Given the description of an element on the screen output the (x, y) to click on. 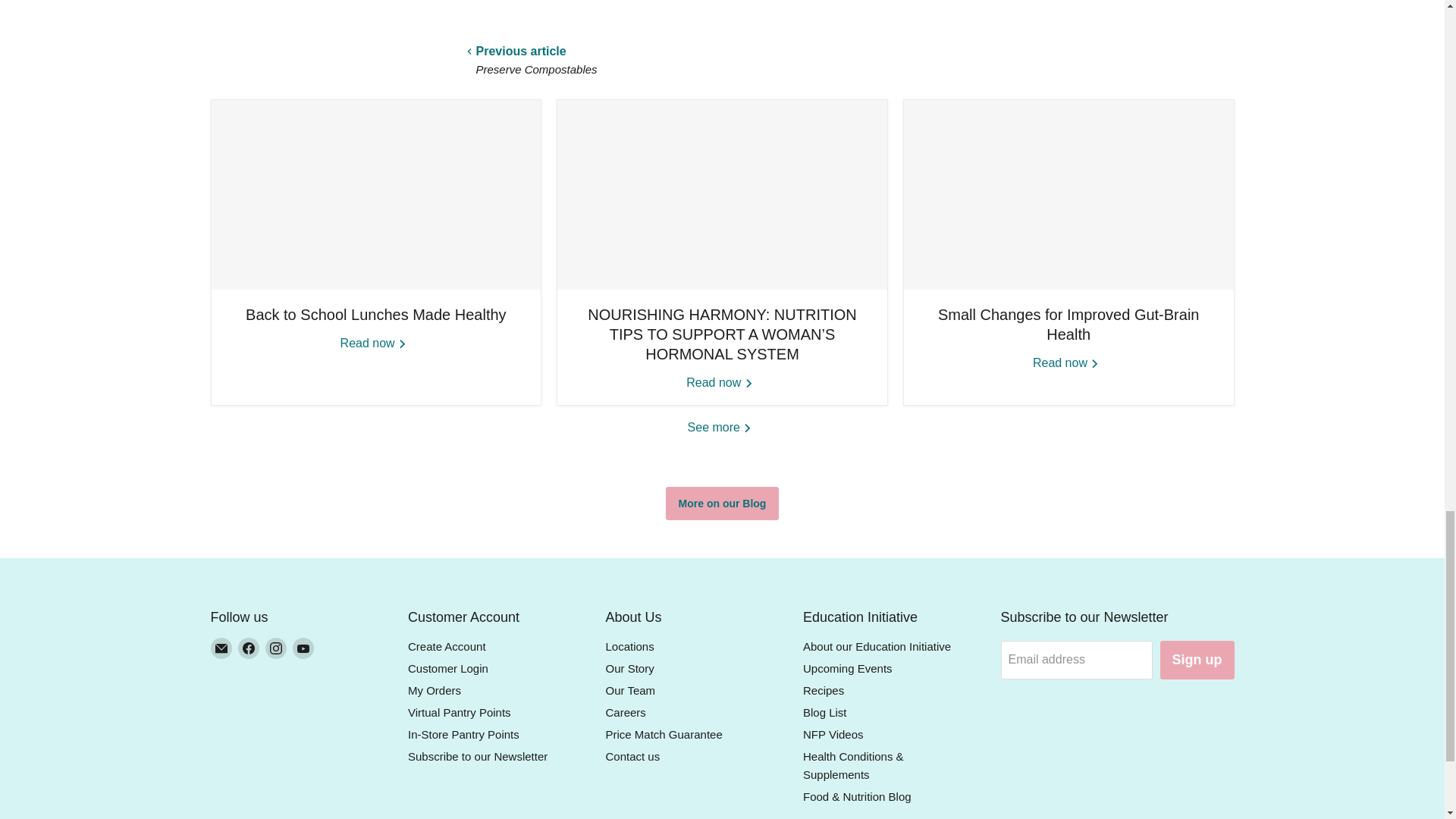
Email (221, 648)
Instagram (275, 648)
Facebook (248, 648)
YouTube (303, 648)
